Given the description of an element on the screen output the (x, y) to click on. 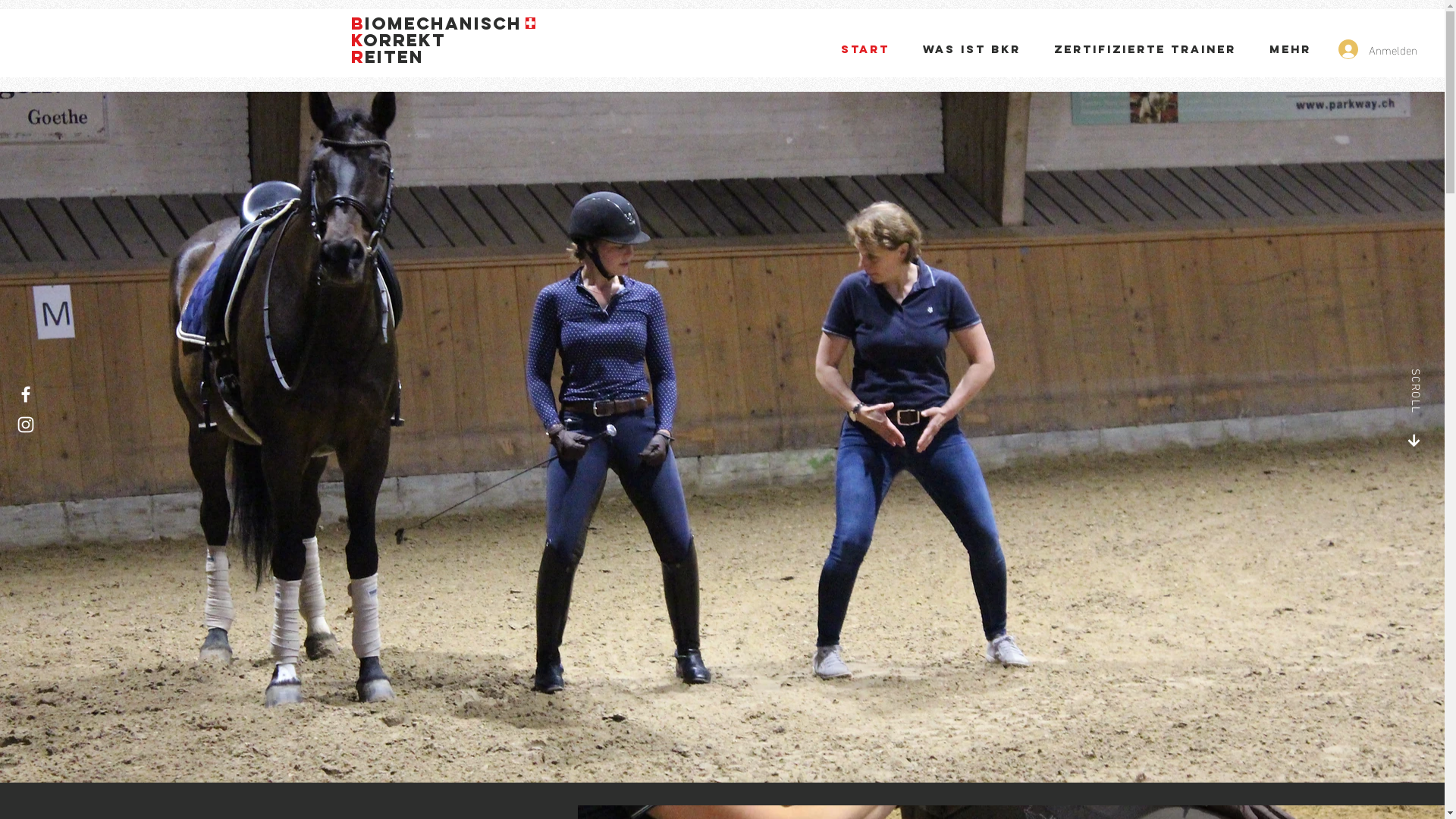
iomechanisch Element type: text (442, 23)
Was ist BKR Element type: text (971, 49)
B Element type: text (357, 23)
Zertifizierte Trainer Element type: text (1144, 49)
Anmelden Element type: text (1370, 48)
Start Element type: text (865, 49)
